Given the description of an element on the screen output the (x, y) to click on. 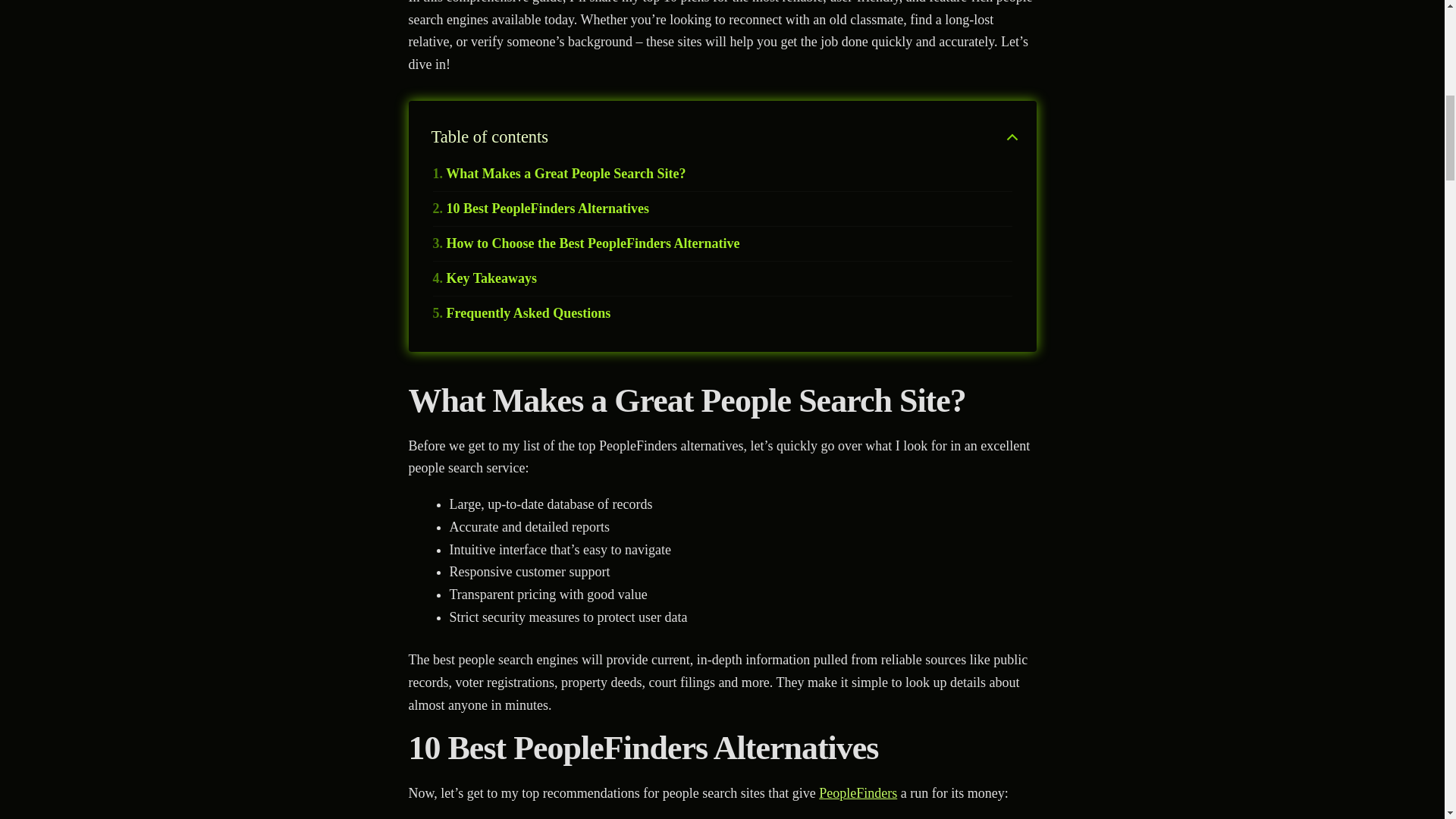
What Makes a Great People Search Site? (558, 173)
How to Choose the Best PeopleFinders Alternative (585, 243)
Frequently Asked Questions (521, 313)
How to Choose the Best PeopleFinders Alternative (585, 243)
What Makes a Great People Search Site? (558, 173)
Key Takeaways (484, 278)
10 Best PeopleFinders Alternatives (539, 208)
10 Best PeopleFinders Alternatives (539, 208)
Key Takeaways (484, 278)
